Given the description of an element on the screen output the (x, y) to click on. 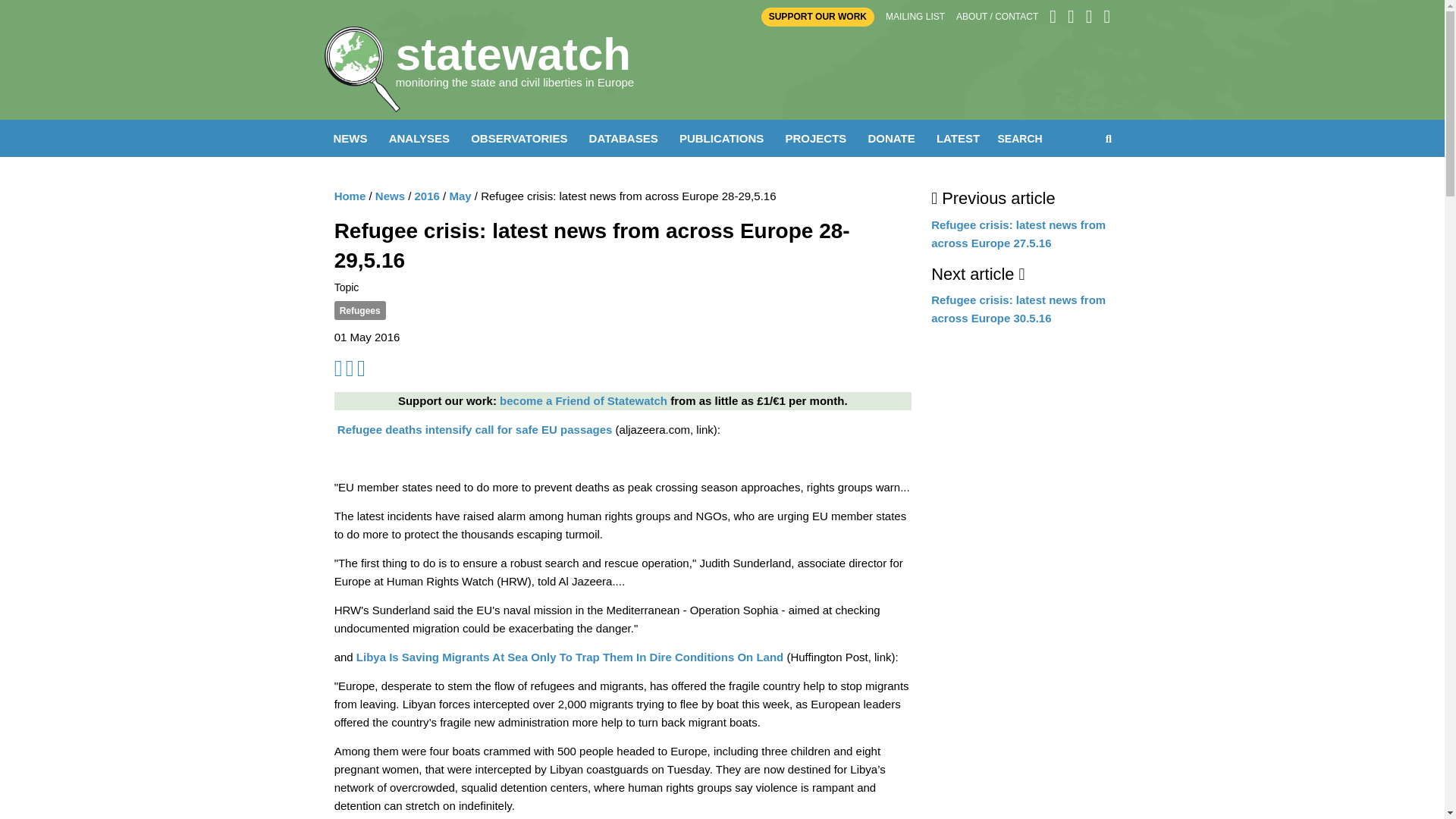
MAILING LIST (914, 16)
2016 (426, 195)
SUPPORT OUR WORK (818, 16)
PUBLICATIONS (721, 138)
Donate (582, 400)
Refugees (359, 310)
DATABASES (623, 138)
NEWS (350, 138)
News (389, 195)
OBSERVATORIES (518, 138)
